Given the description of an element on the screen output the (x, y) to click on. 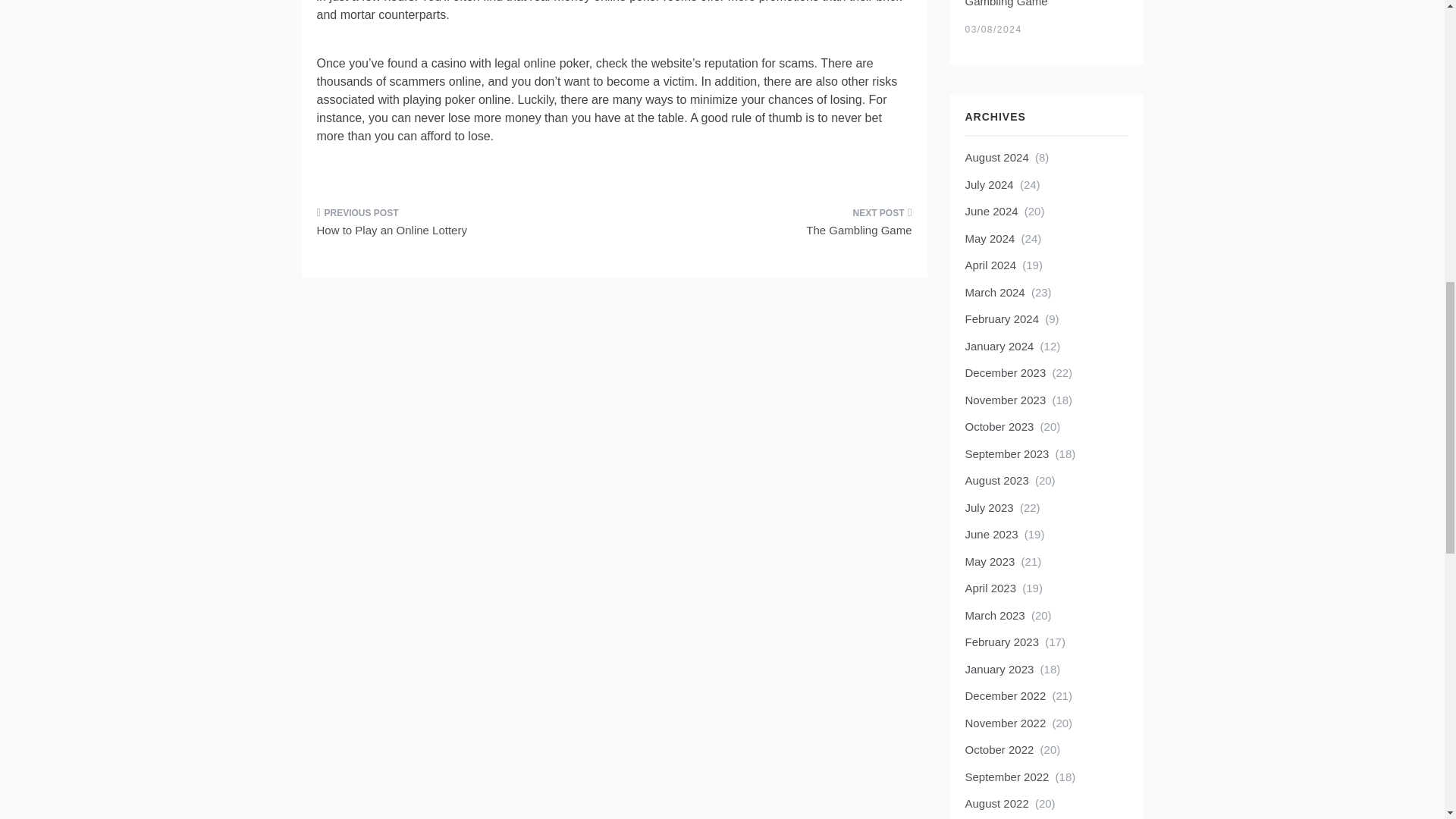
September 2023 (1005, 453)
November 2023 (1004, 399)
April 2023 (989, 587)
July 2023 (988, 507)
February 2024 (1001, 318)
May 2023 (988, 561)
June 2023 (990, 533)
August 2024 (995, 156)
August 2023 (995, 480)
January 2024 (998, 345)
